Given the description of an element on the screen output the (x, y) to click on. 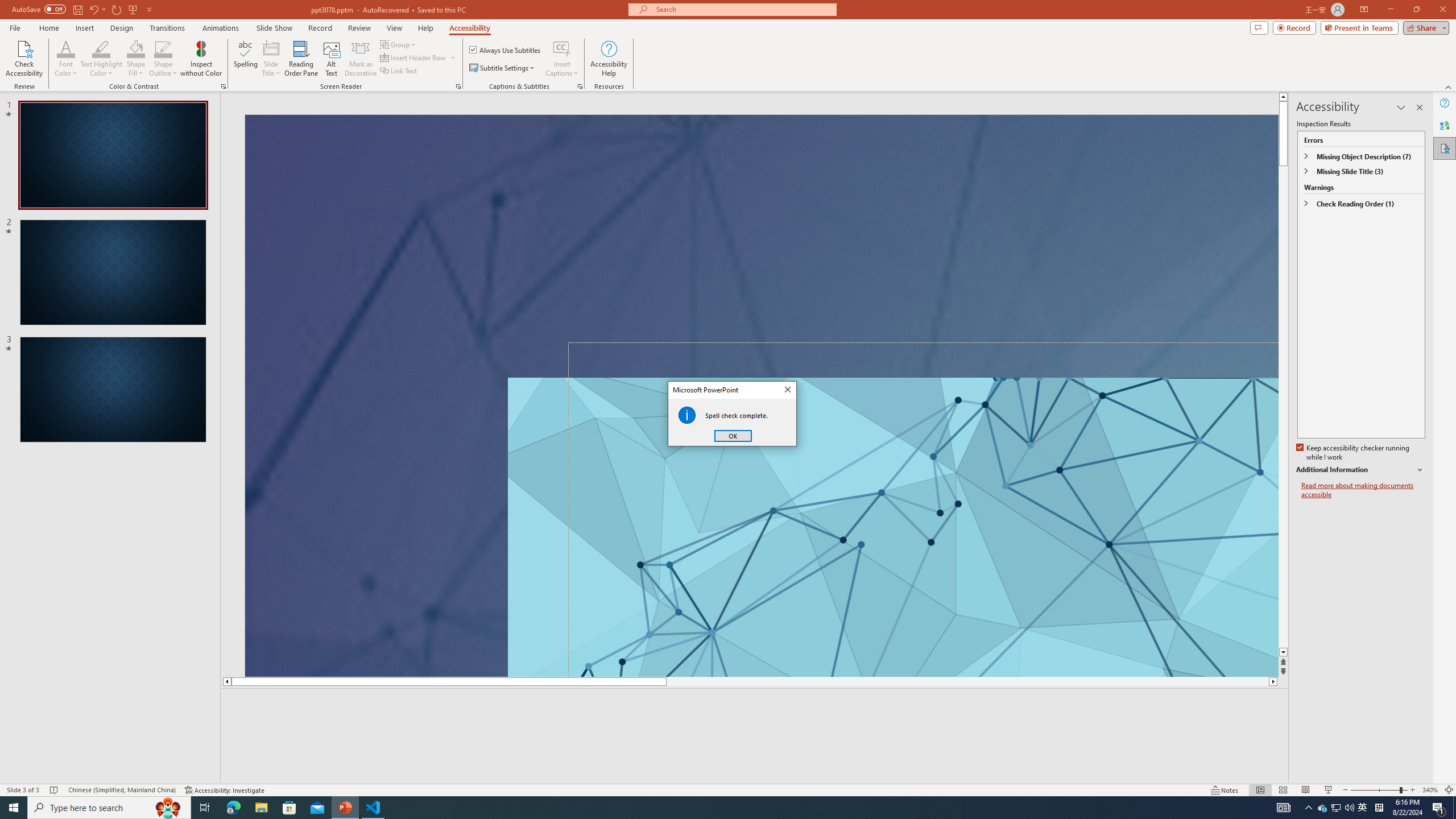
Reading Order Pane (301, 58)
